Given the description of an element on the screen output the (x, y) to click on. 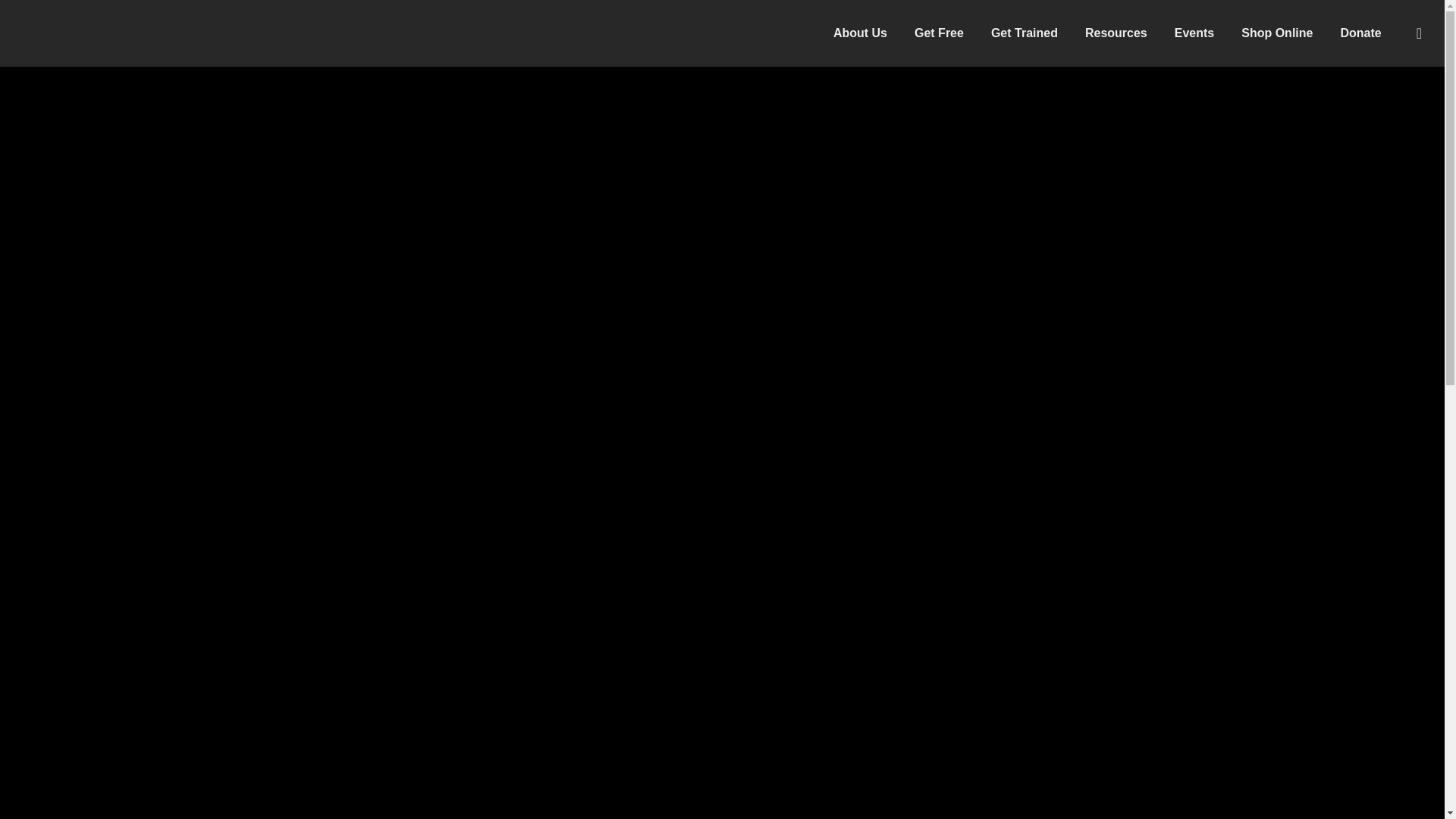
Get Free (938, 33)
About Us (860, 33)
Get Trained (1023, 33)
Donate (1360, 33)
Shop Online (1276, 33)
Events (1193, 33)
Resources (1115, 33)
